Given the description of an element on the screen output the (x, y) to click on. 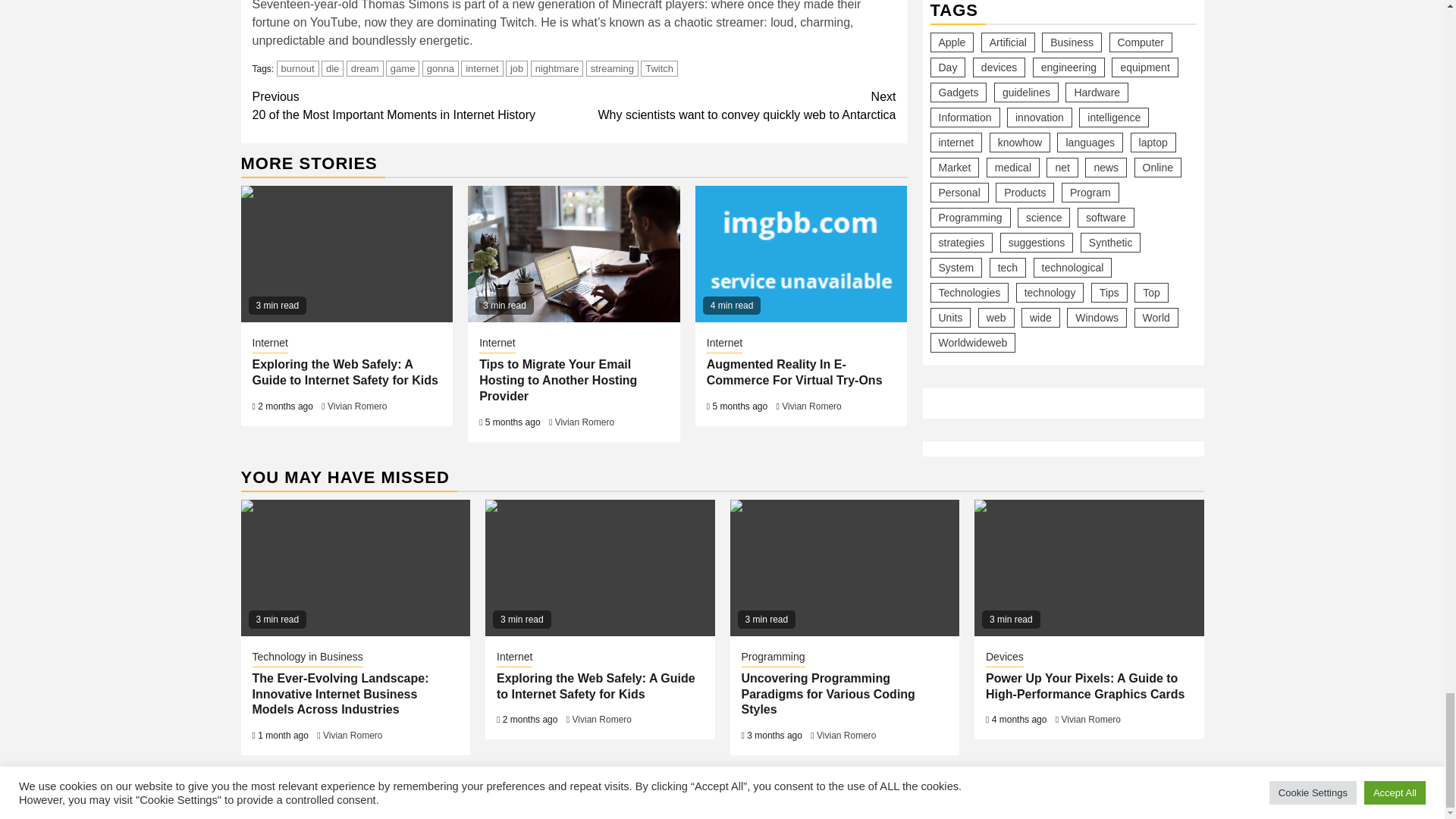
game (402, 68)
die (332, 68)
dream (365, 68)
burnout (297, 68)
gonna (440, 68)
